Given the description of an element on the screen output the (x, y) to click on. 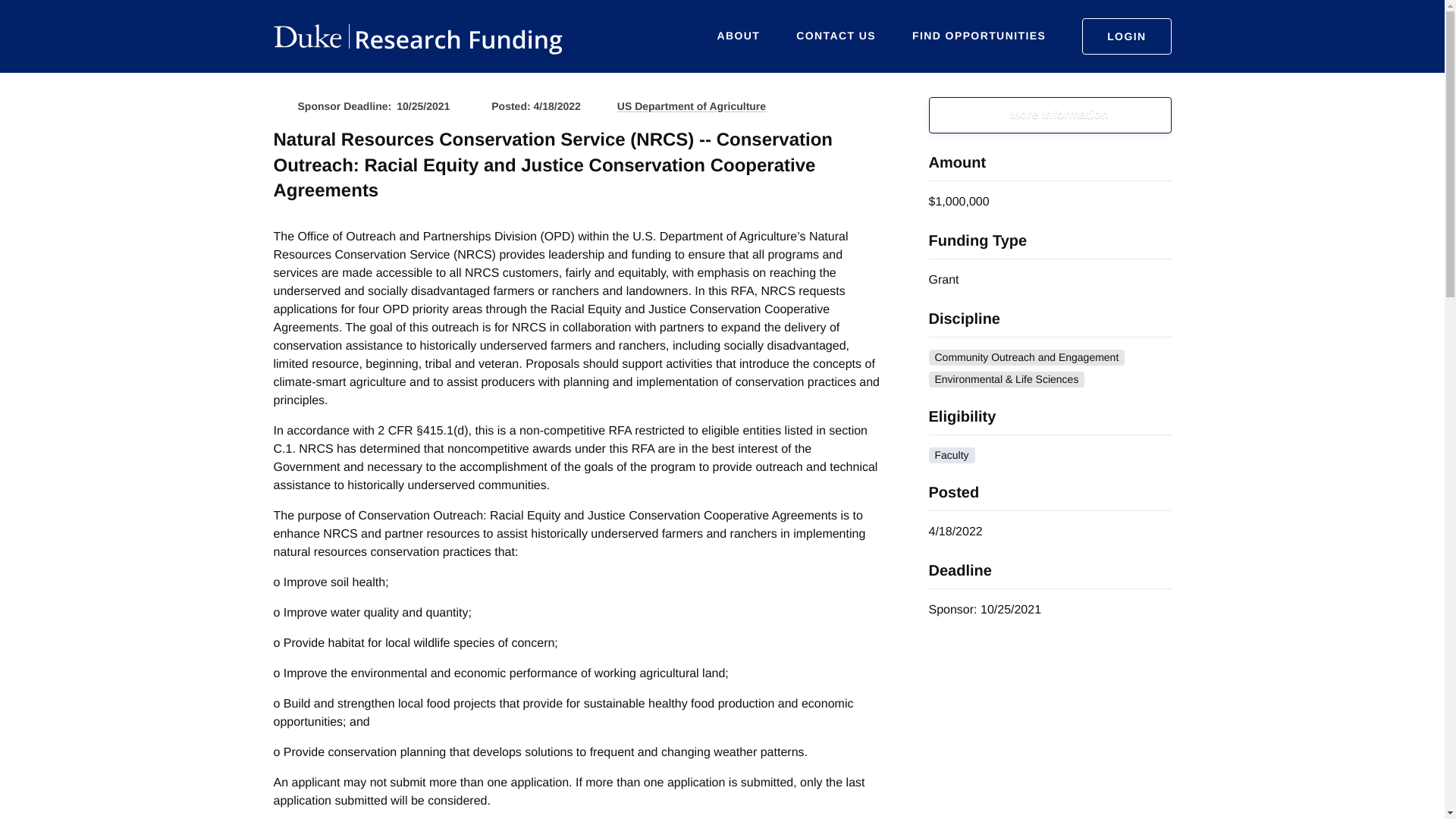
LOGIN (1125, 36)
More Information (1049, 115)
FIND OPPORTUNITIES (978, 35)
US Department of Agriculture (691, 106)
Faculty (951, 455)
CONTACT US (836, 35)
ABOUT (738, 35)
Community Outreach and Engagement (1026, 357)
Grant (943, 279)
